Given the description of an element on the screen output the (x, y) to click on. 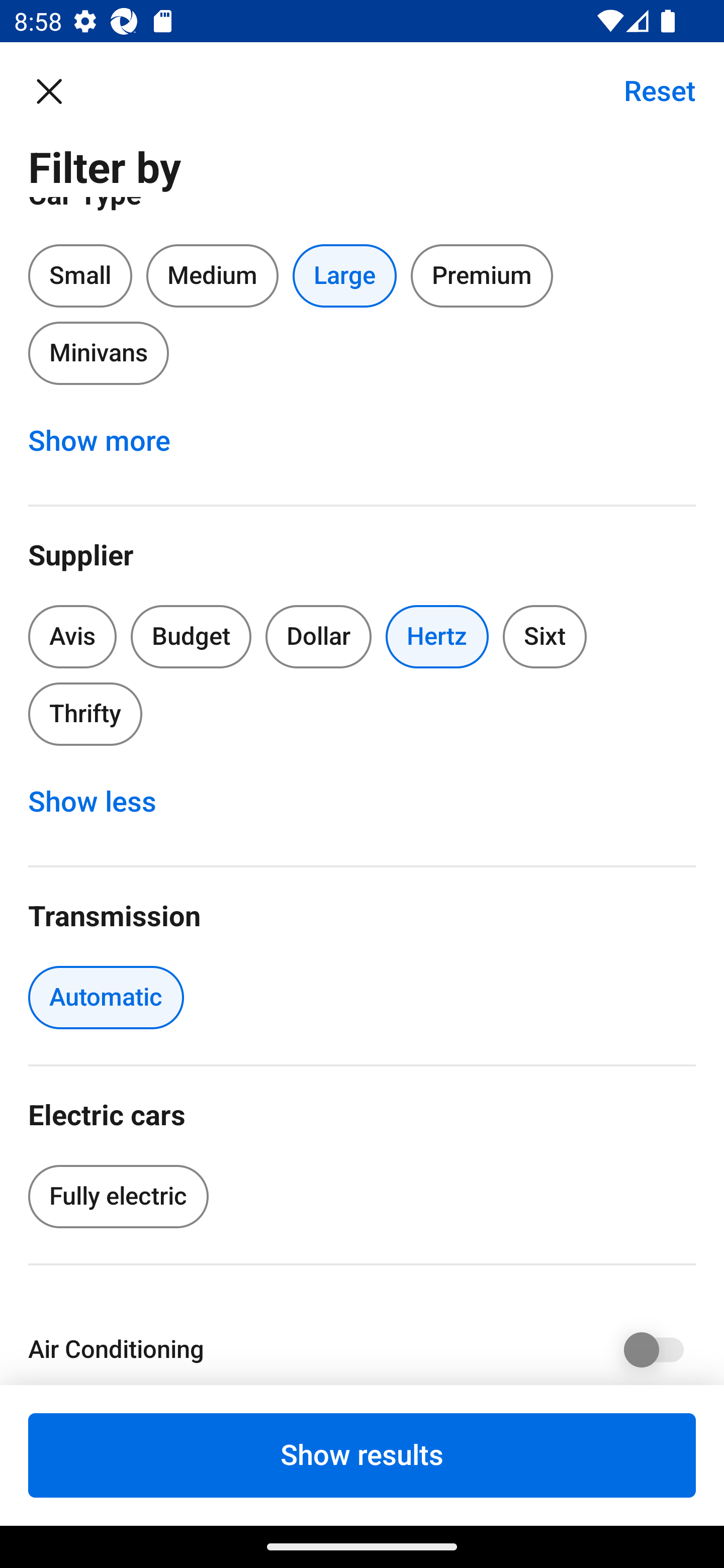
Close (59, 90)
Reset (649, 90)
Small (80, 275)
Medium (212, 275)
Premium (482, 275)
Minivans (98, 352)
Show more (109, 440)
Avis (72, 636)
Budget (191, 636)
Dollar (318, 636)
Sixt (544, 636)
Thrifty (85, 713)
Show less (102, 801)
Fully electric (118, 1196)
Air Conditioning (361, 1345)
Show results (361, 1454)
